Given the description of an element on the screen output the (x, y) to click on. 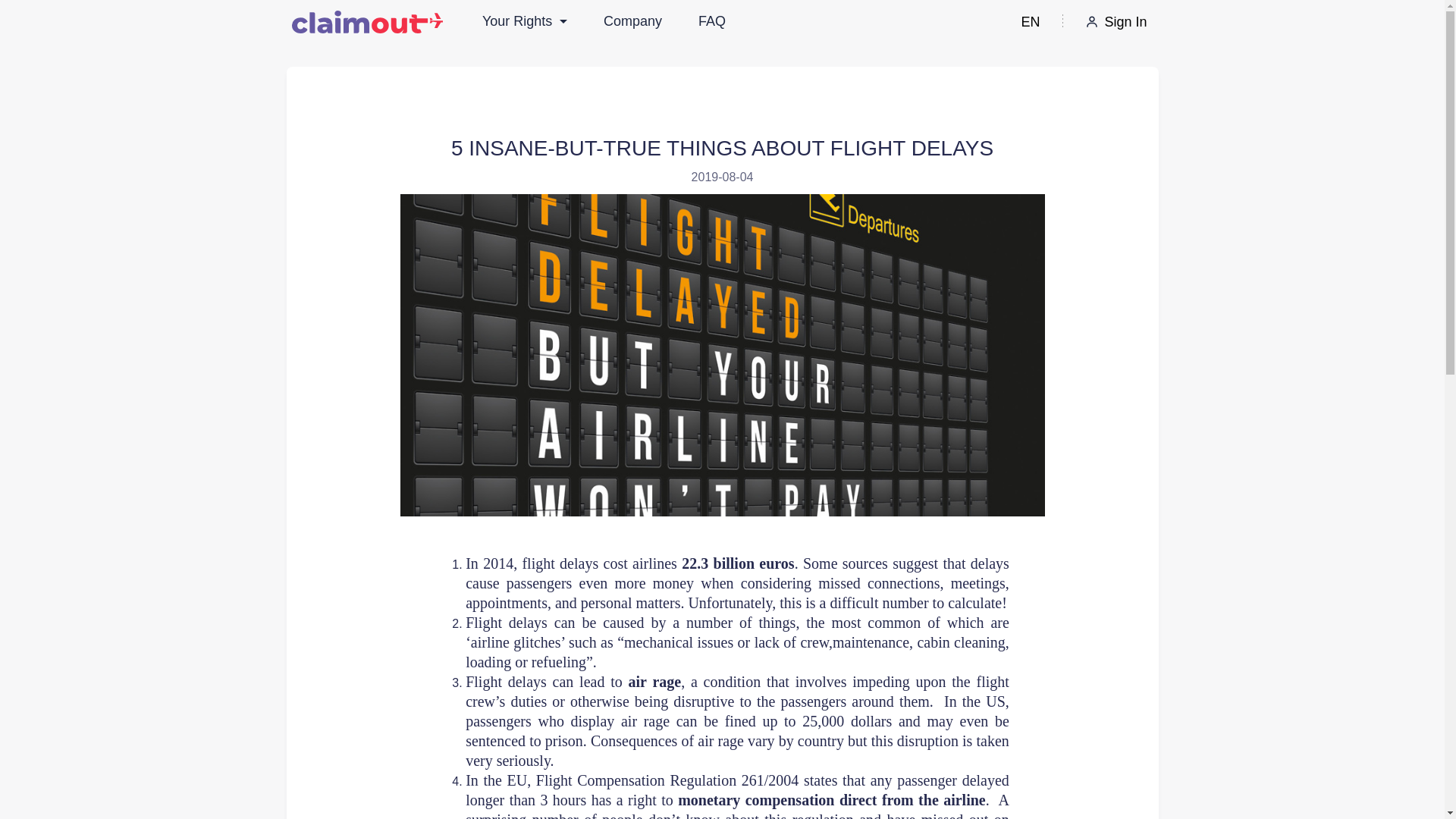
EN (1030, 21)
Company (632, 20)
FAQ (711, 20)
Your Rights (524, 20)
Sign In (1115, 21)
